Given the description of an element on the screen output the (x, y) to click on. 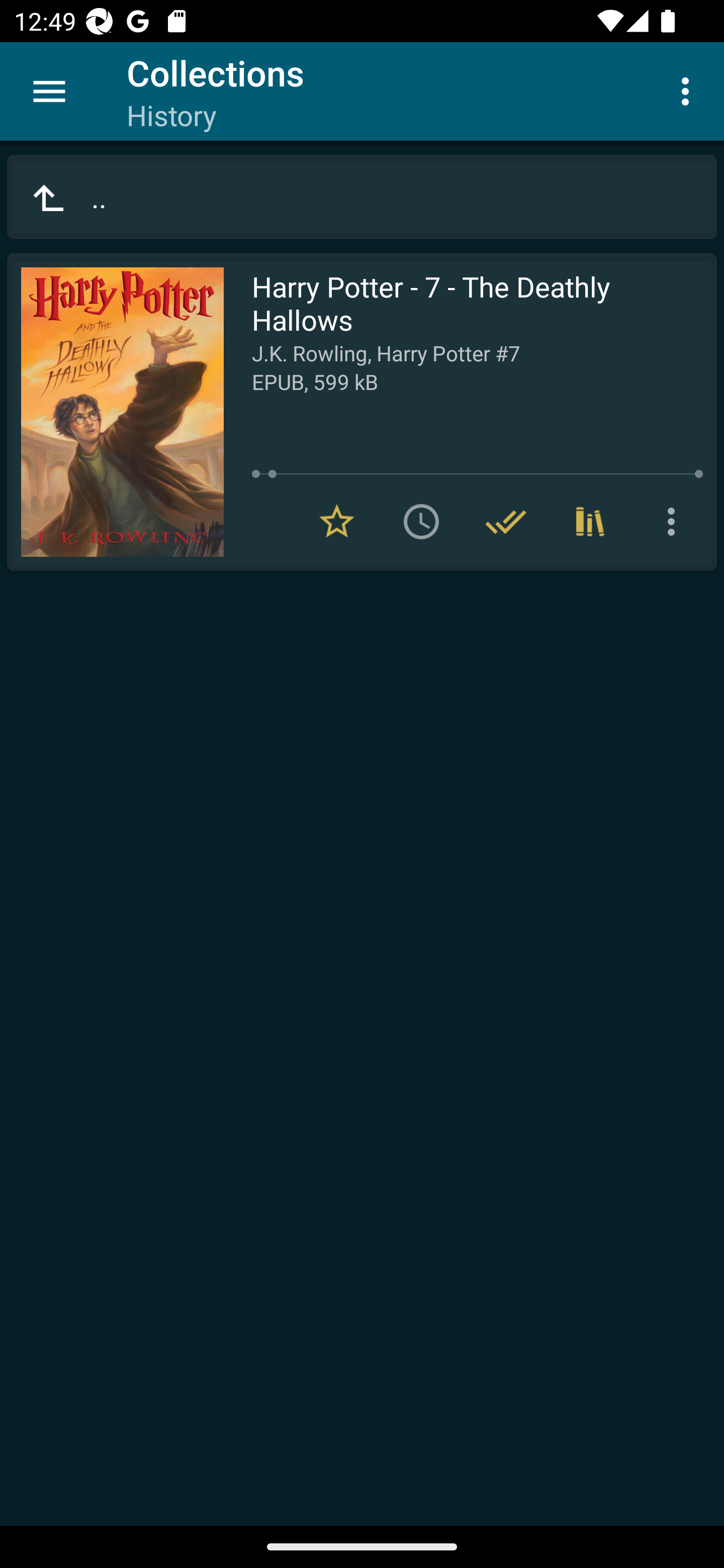
Menu (49, 91)
More options (688, 90)
.. (361, 197)
Read Harry Potter - 7 - The Deathly Hallows (115, 412)
Remove from Favorites (336, 521)
Add to To read (421, 521)
Remove from Have read (505, 521)
Collections (3) (590, 521)
More options (674, 521)
